Given the description of an element on the screen output the (x, y) to click on. 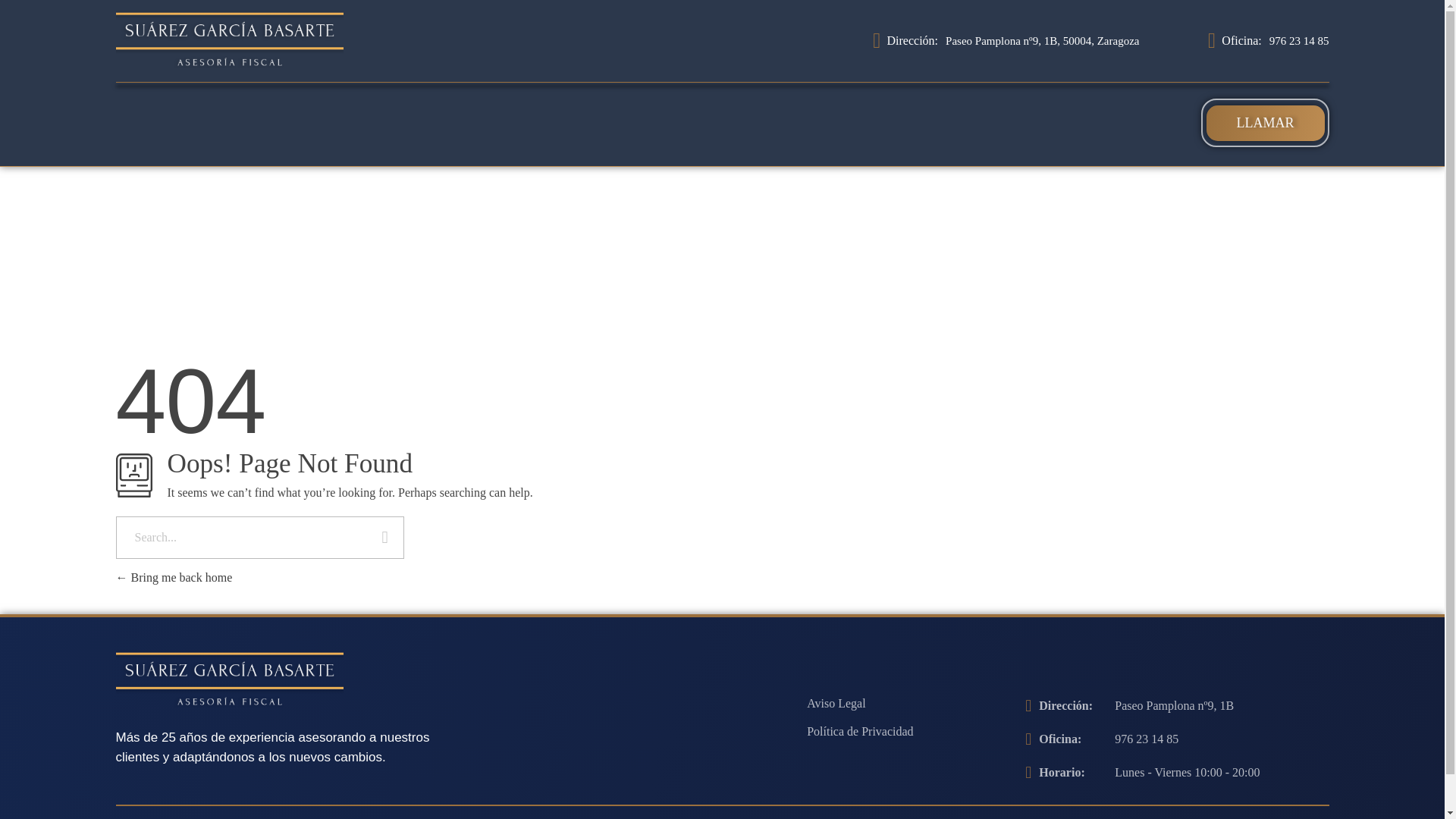
Bring me back home (173, 576)
LLAMAR (1264, 122)
Aviso Legal (835, 703)
